Given the description of an element on the screen output the (x, y) to click on. 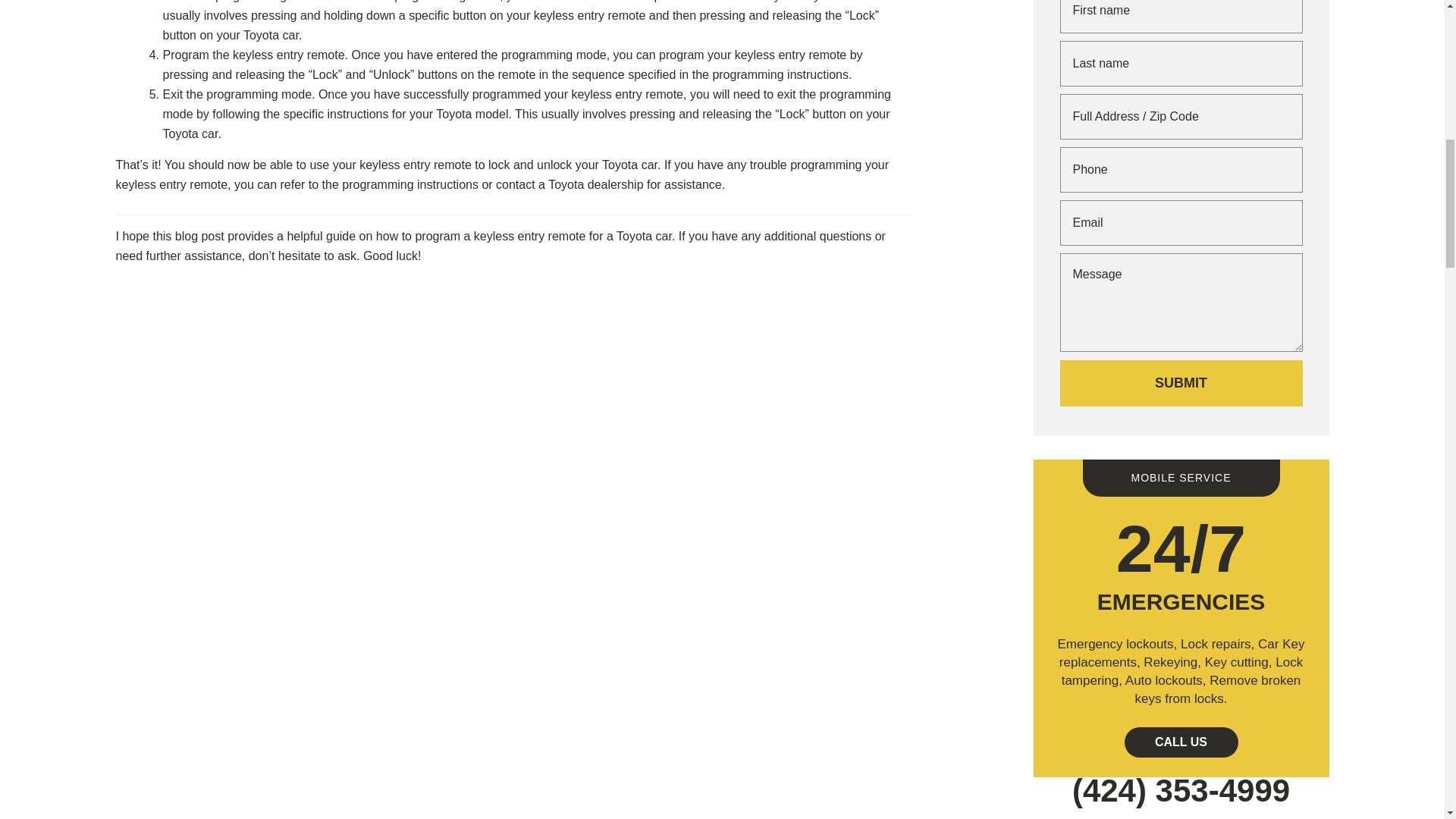
Submit (1181, 383)
